Given the description of an element on the screen output the (x, y) to click on. 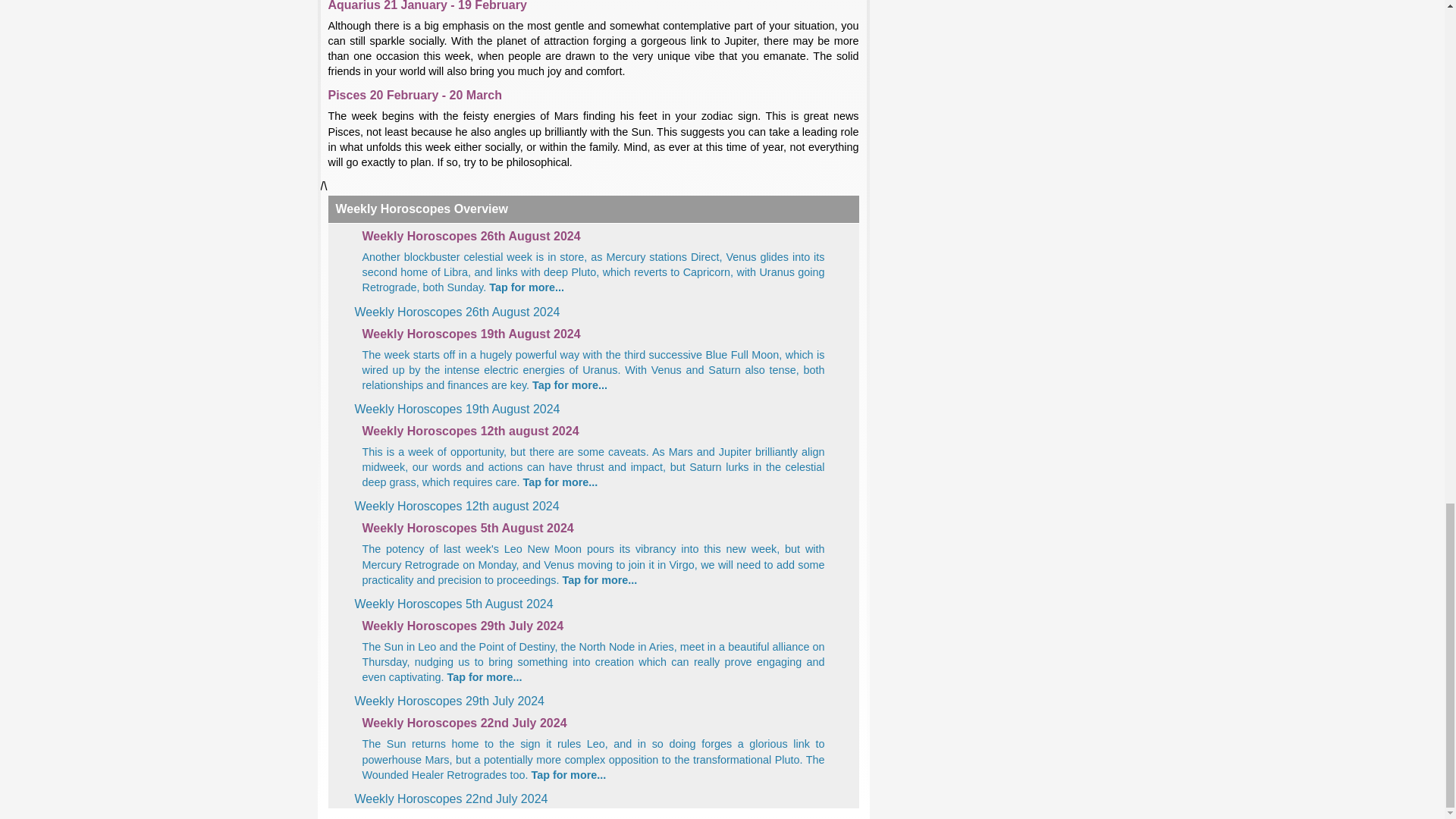
Weekly Horoscopes 26th August 2024 (593, 236)
Weekly Horoscopes 26th August 2024 (593, 271)
Weekly Horoscopes 26th August 2024 (457, 311)
